Given the description of an element on the screen output the (x, y) to click on. 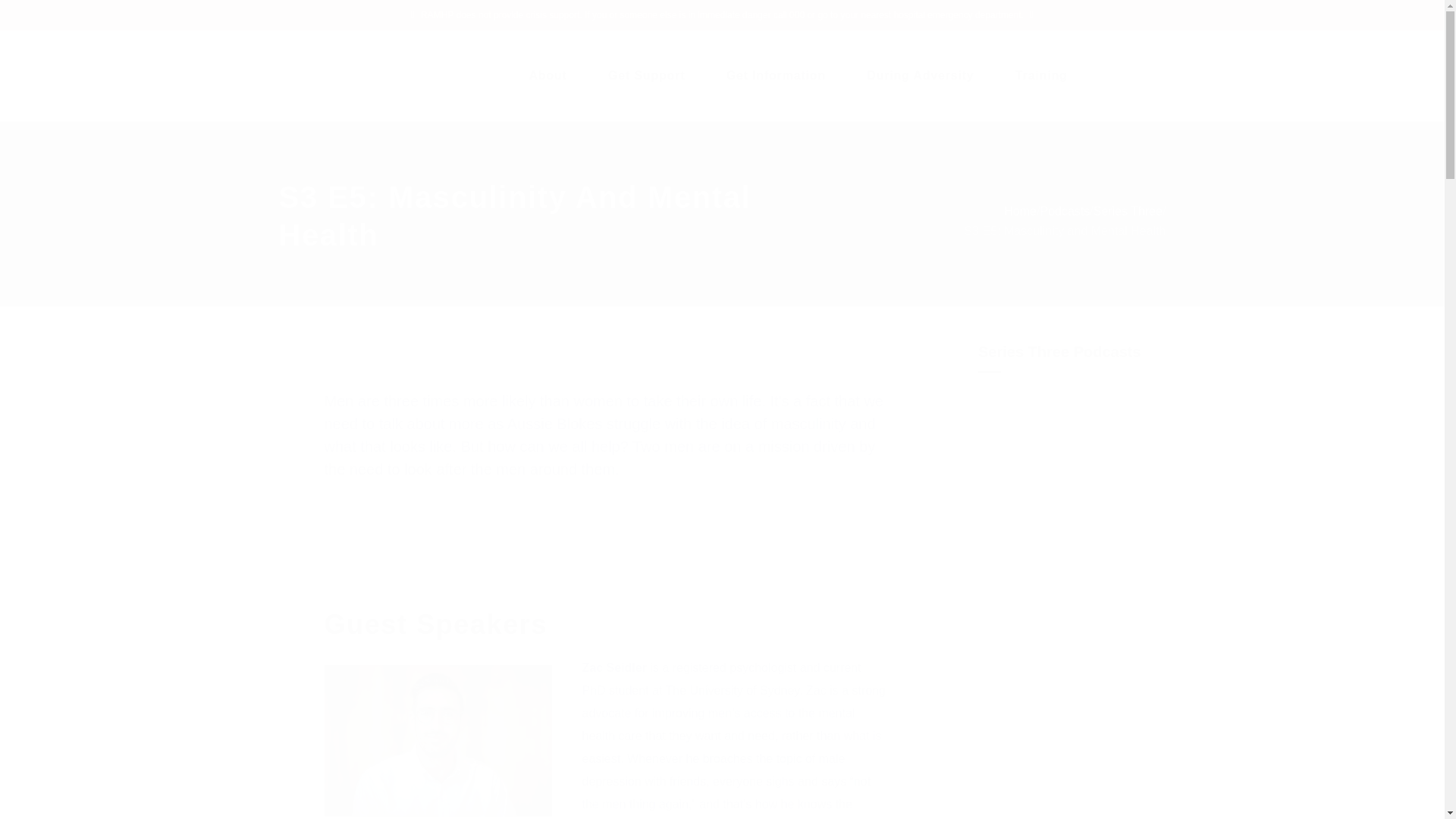
During Adversity (920, 75)
Get Information (775, 75)
Go to Podcasts. (1064, 210)
Go to RAMHP. (1020, 210)
Series Three (1127, 210)
Podcasts (1064, 210)
Go to the Series Three Series archives. (1127, 210)
Home (1020, 210)
